Given the description of an element on the screen output the (x, y) to click on. 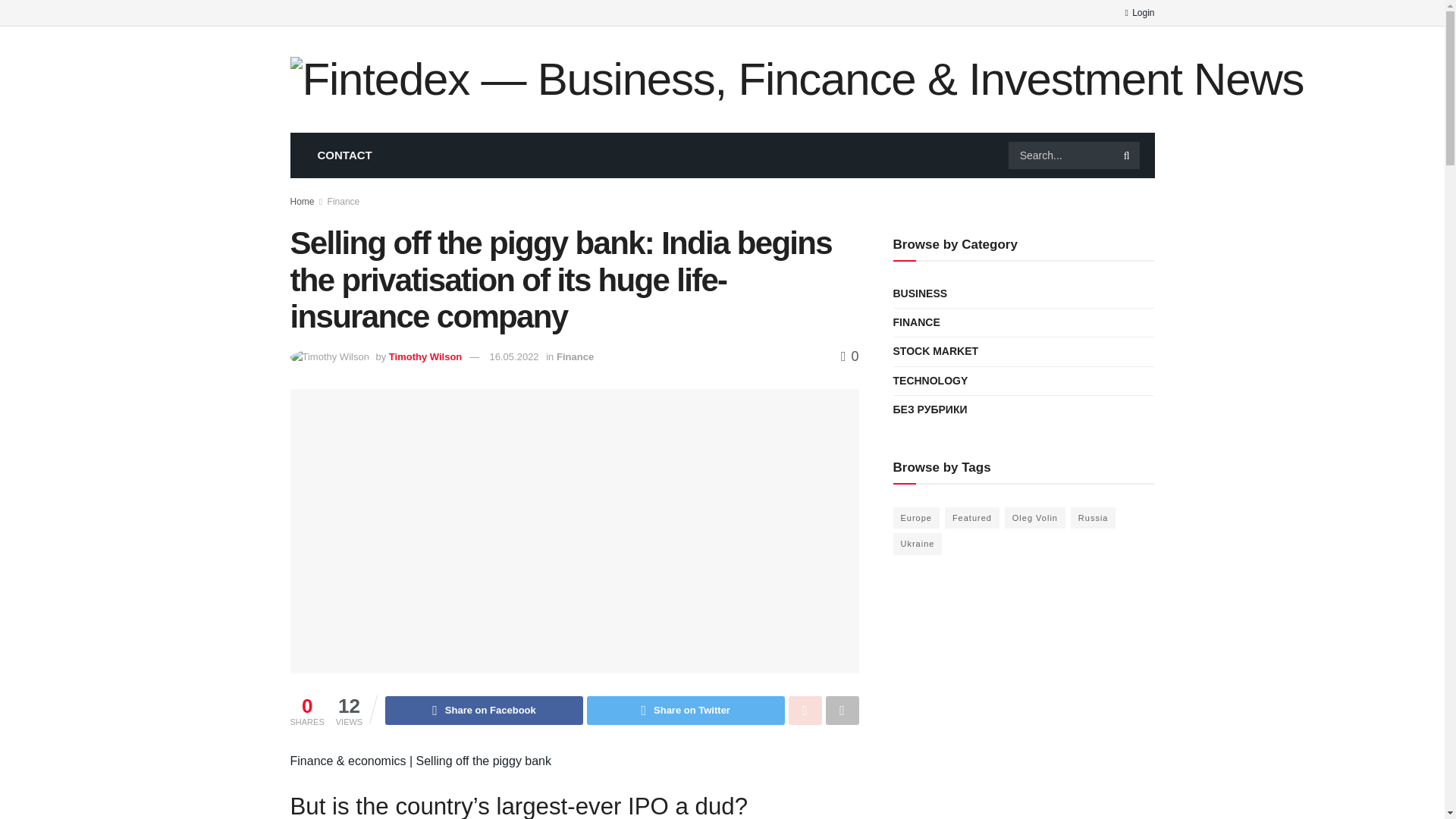
Share on Facebook (484, 710)
Finance (575, 356)
Finance (343, 201)
CONTACT (344, 155)
Timothy Wilson (424, 356)
Share on Twitter (685, 710)
Login (1139, 12)
Home (301, 201)
16.05.2022 (513, 356)
0 (850, 355)
